Given the description of an element on the screen output the (x, y) to click on. 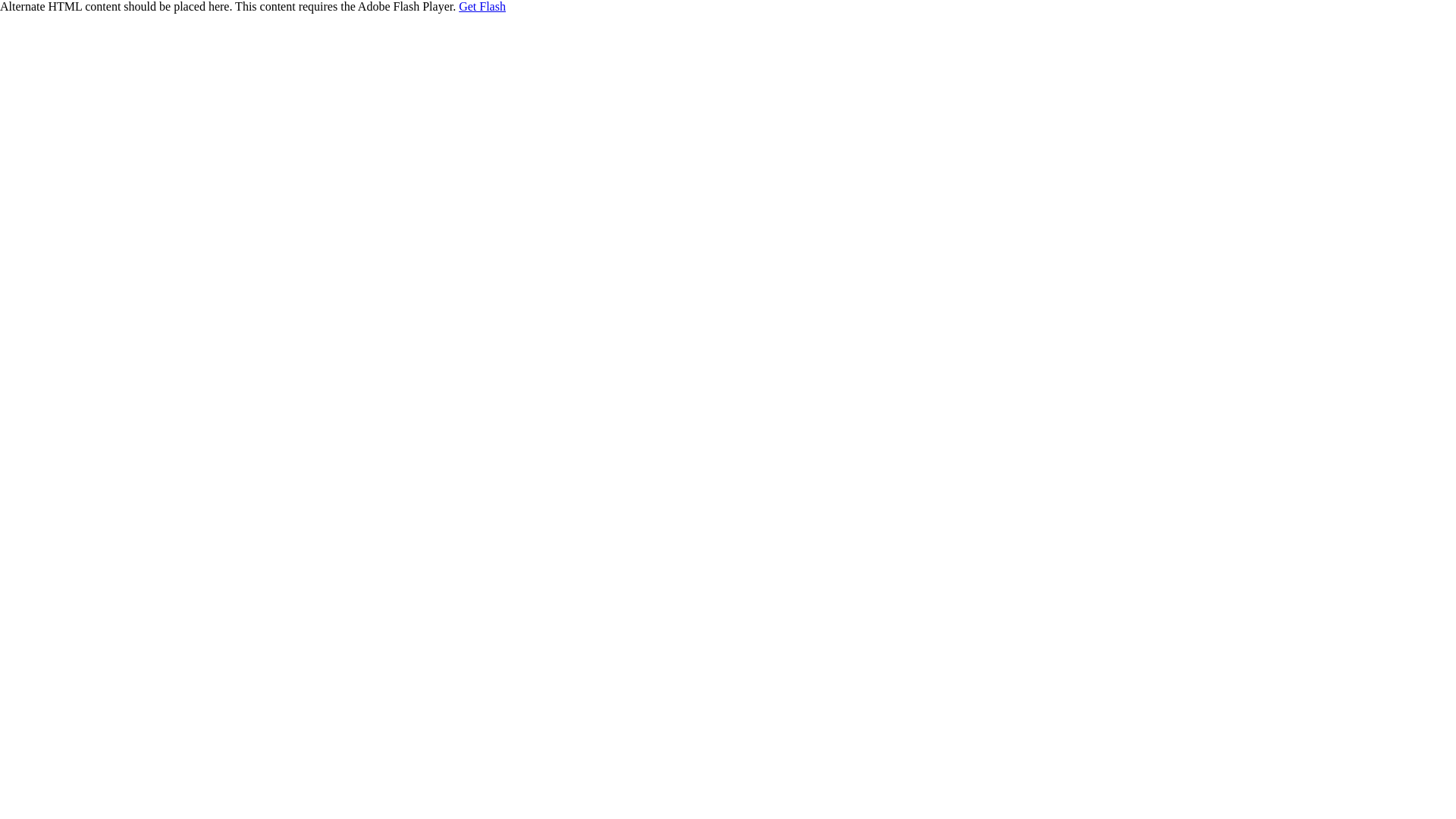
Get Flash Element type: text (481, 6)
